Given the description of an element on the screen output the (x, y) to click on. 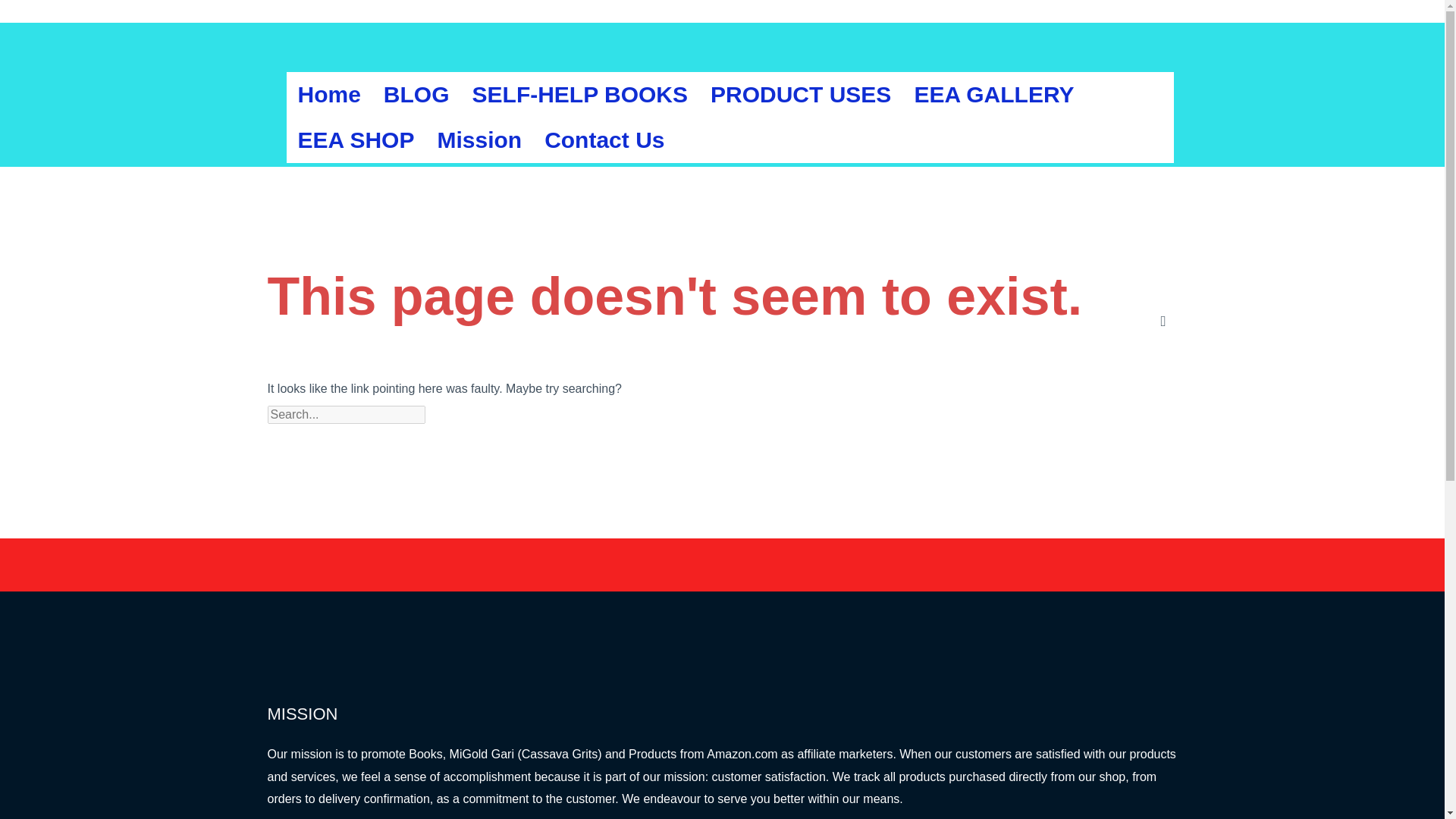
SELF-HELP BOOKS (579, 94)
Mission (478, 139)
Search (462, 414)
Search (462, 414)
BLOG (416, 94)
Search (462, 414)
Contact Us (603, 139)
PRODUCT USES (800, 94)
EEA SHOP (356, 139)
EEA GALLERY (993, 94)
